Given the description of an element on the screen output the (x, y) to click on. 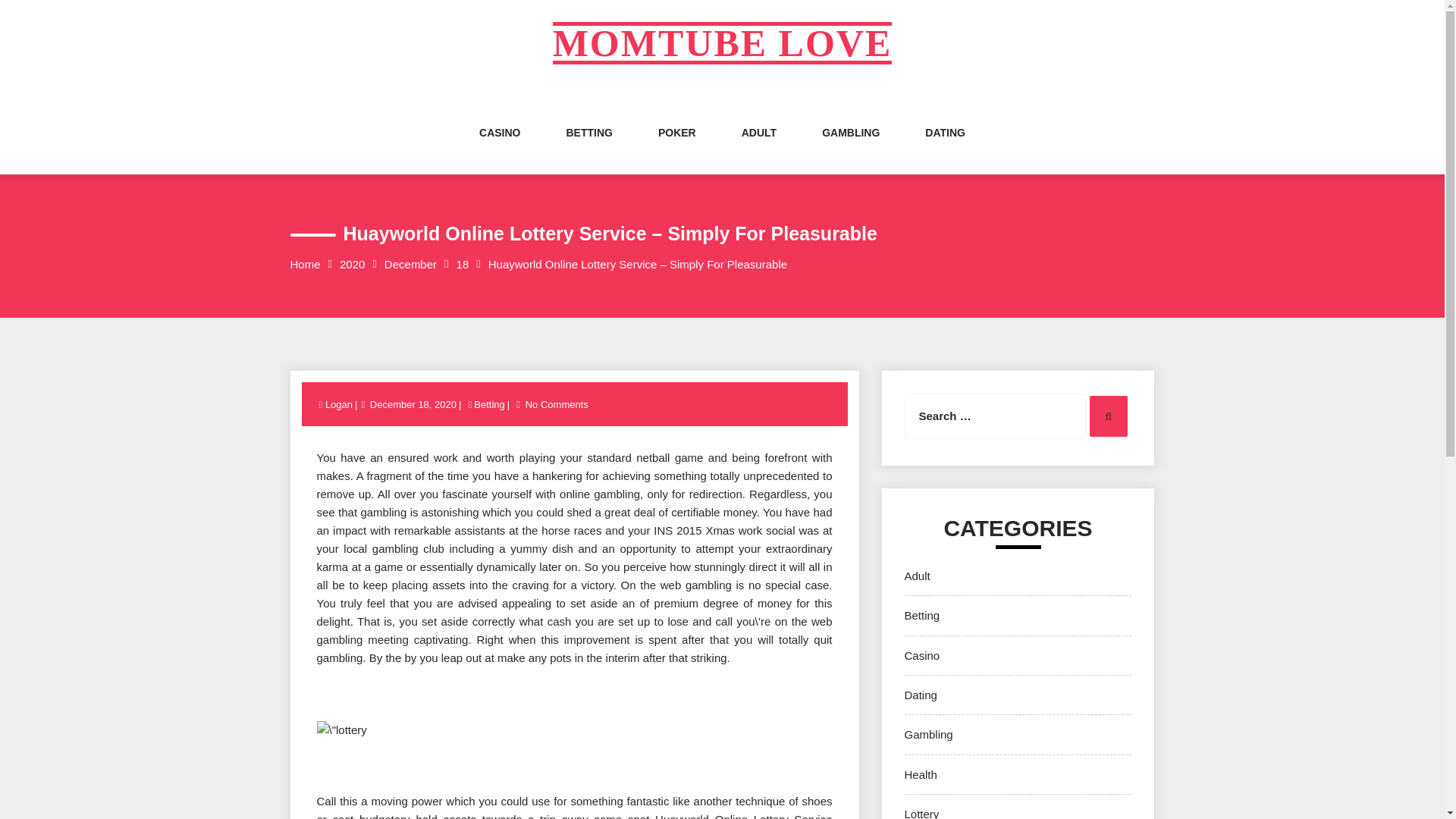
Casino (921, 655)
Lottery (921, 813)
Logan (339, 404)
Betting (921, 615)
GAMBLING (850, 147)
Home (304, 264)
December (410, 264)
Betting (488, 404)
Adult (917, 575)
Gambling (928, 734)
Health (920, 774)
18 (462, 264)
No Comments (556, 404)
2020 (352, 264)
Search (1107, 415)
